Given the description of an element on the screen output the (x, y) to click on. 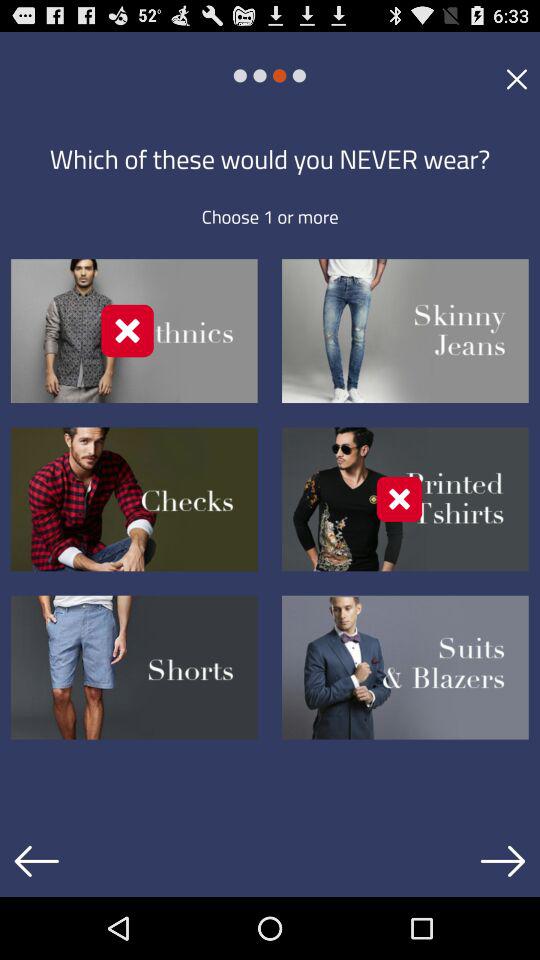
click back arrow icon (36, 861)
